Given the description of an element on the screen output the (x, y) to click on. 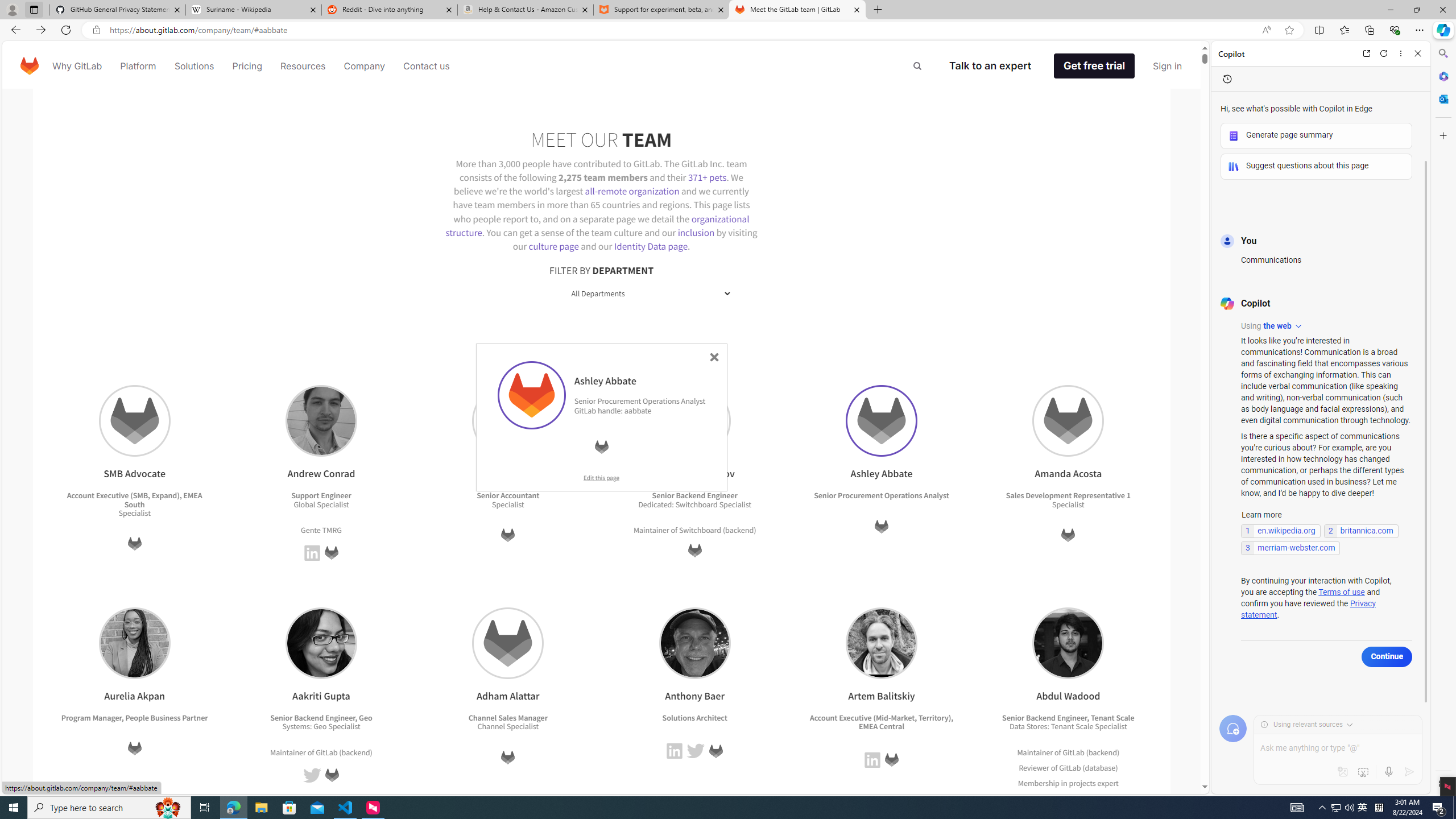
Support Engineer (320, 495)
Andrew Conrad (320, 420)
Maintainer (1034, 751)
Membership in projects (1056, 782)
Sales Development Representative 1 (1068, 495)
Maintainer of GitLab (backend) (1067, 752)
Senior Backend Engineer (1044, 717)
Resources (302, 65)
Channel Sales Manager (507, 717)
Adham Alattar (507, 642)
Andrey Ruzmanov (695, 420)
Contact us (426, 65)
